Given the description of an element on the screen output the (x, y) to click on. 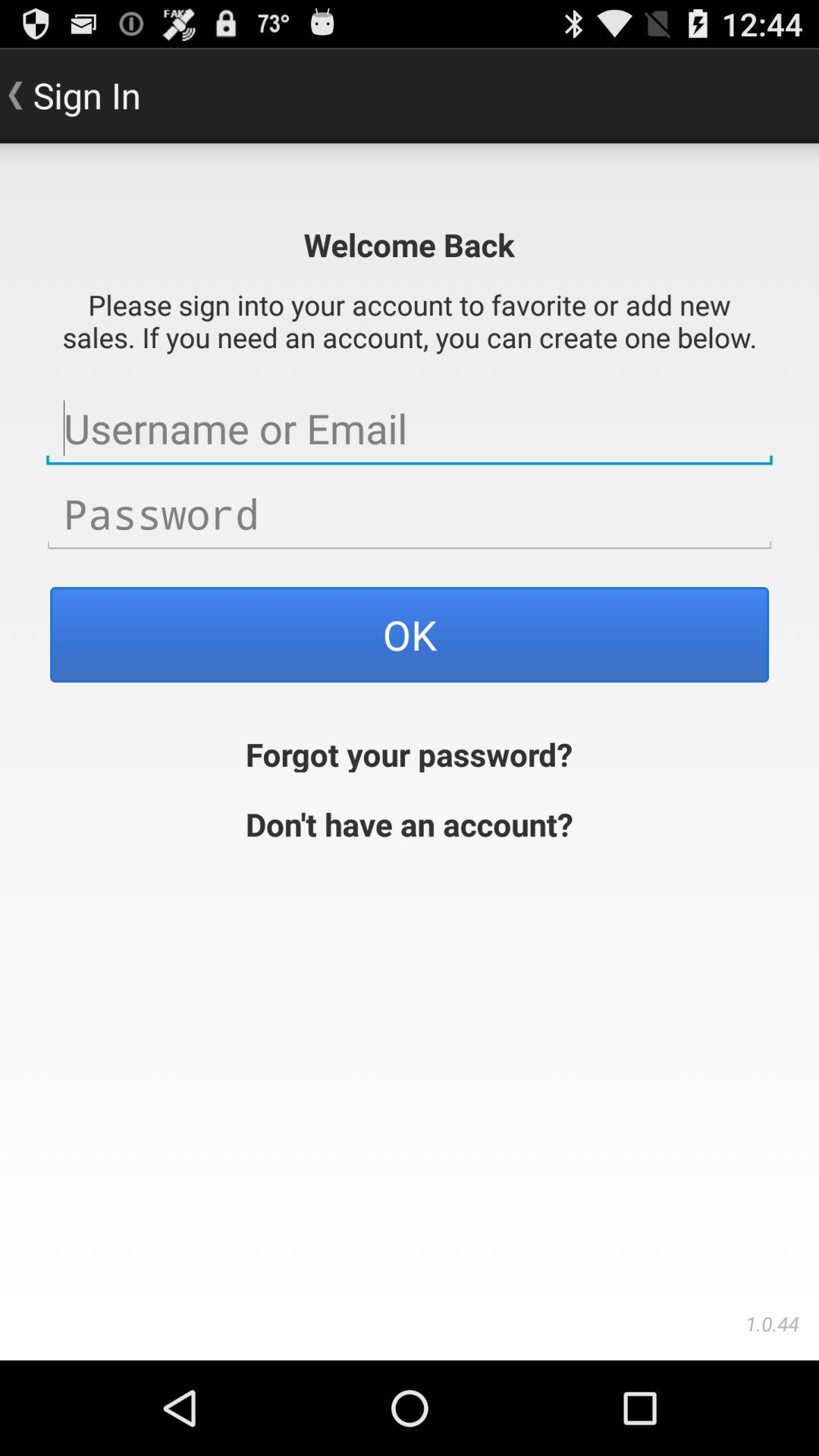
press the icon above the don t have (408, 752)
